Given the description of an element on the screen output the (x, y) to click on. 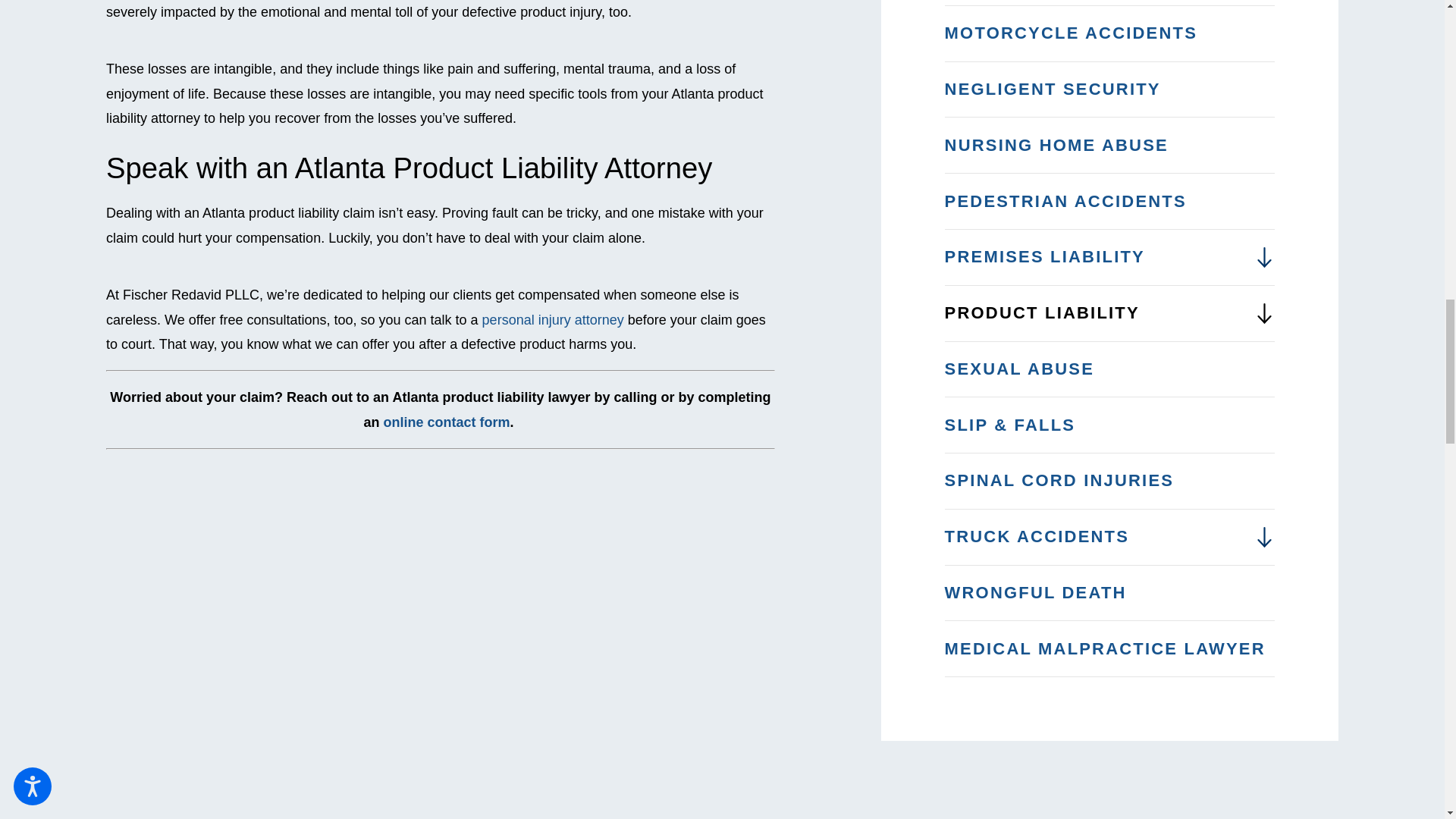
Open child menu of Premises Liability (1264, 257)
